Given the description of an element on the screen output the (x, y) to click on. 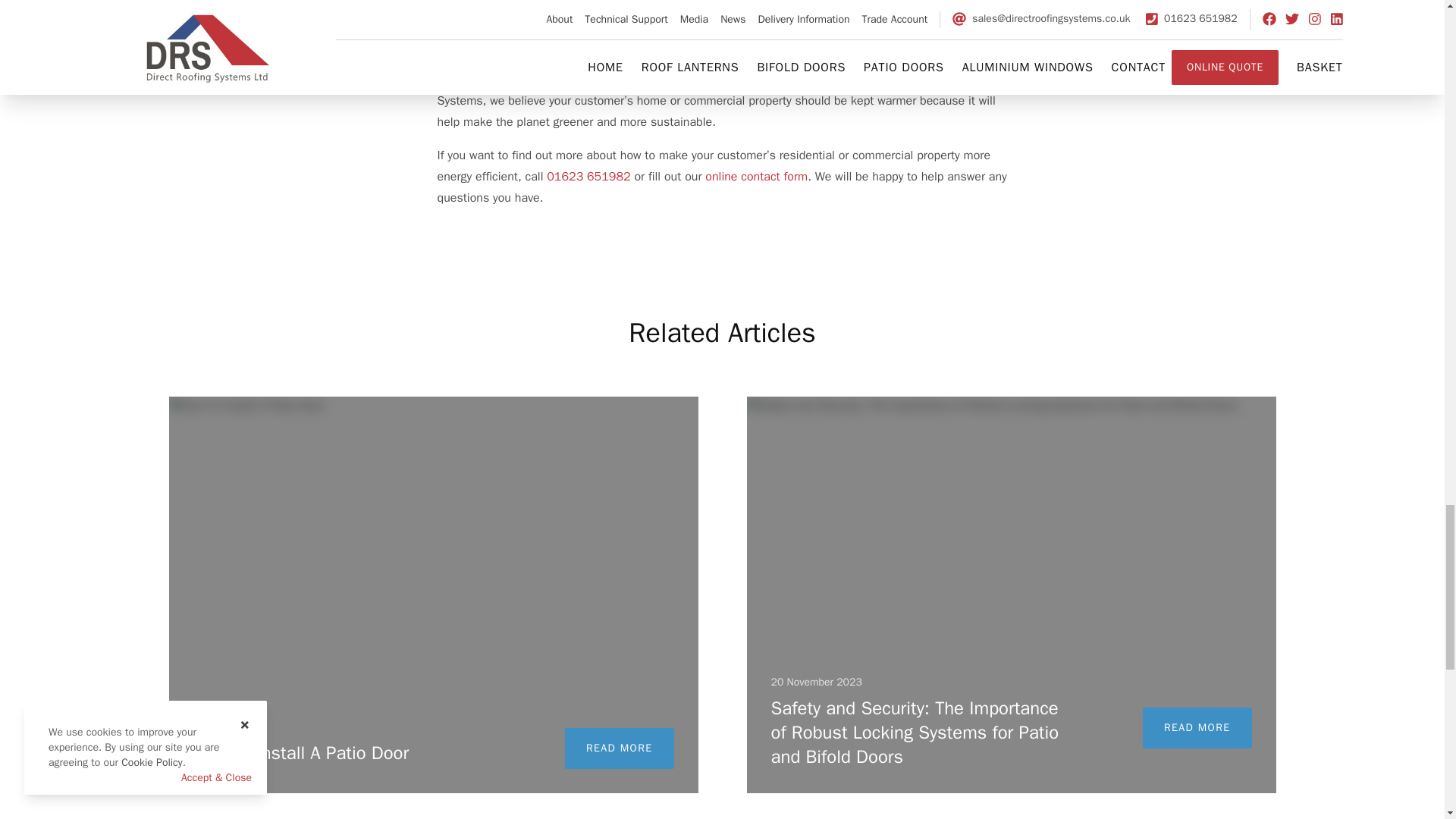
online contact form (756, 176)
01623 651982 (588, 176)
